Given the description of an element on the screen output the (x, y) to click on. 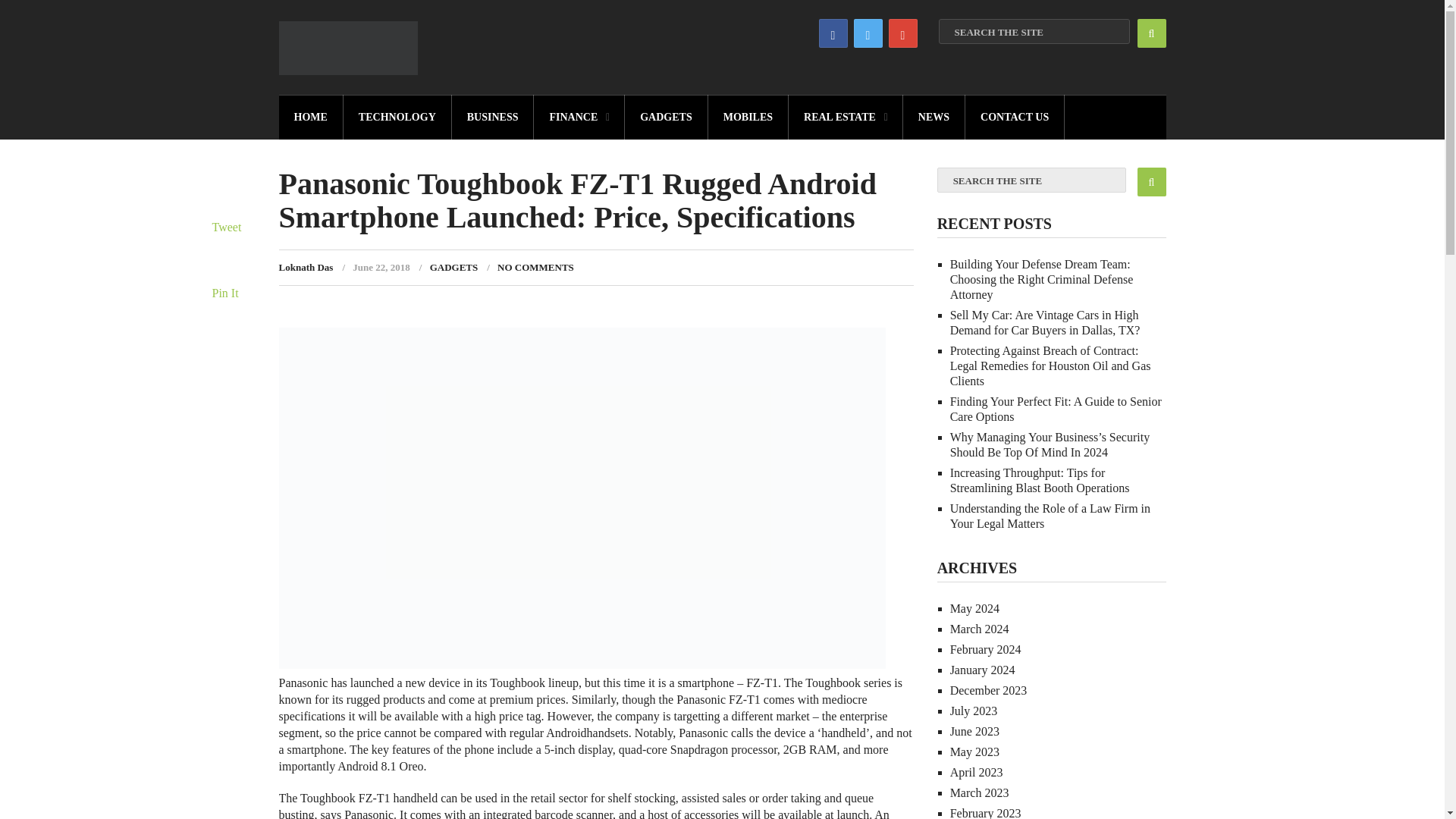
BUSINESS (492, 117)
HOME (311, 117)
Posts by Loknath Das (306, 266)
TECHNOLOGY (397, 117)
Understanding the Role of a Law Firm in Your Legal Matters (1050, 515)
NEWS (933, 117)
Loknath Das (306, 266)
CONTACT US (1014, 117)
GADGETS (665, 117)
MOBILES (748, 117)
FINANCE (579, 117)
